Given the description of an element on the screen output the (x, y) to click on. 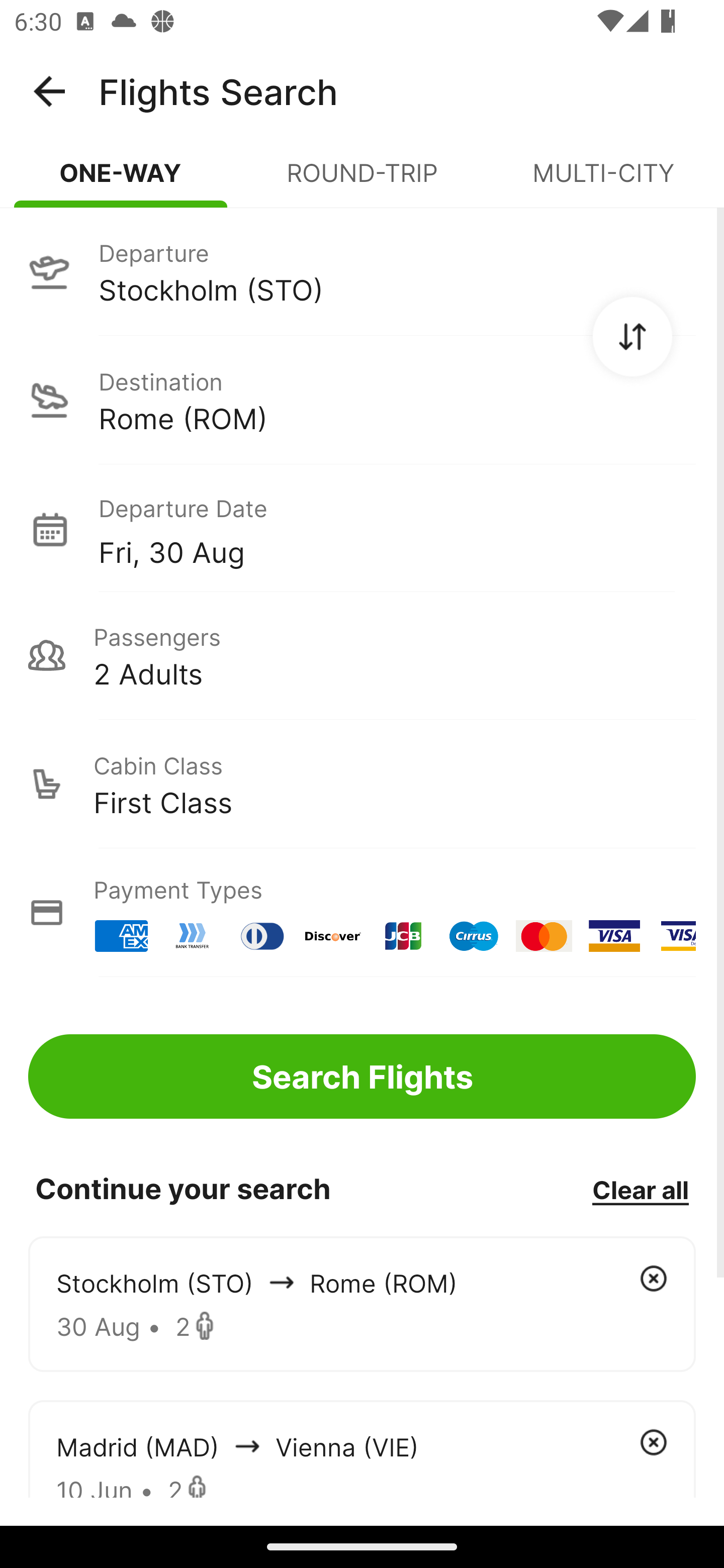
ONE-WAY (120, 180)
ROUND-TRIP (361, 180)
MULTI-CITY (603, 180)
Departure Stockholm (STO) (362, 270)
Destination Rome (ROM) (362, 400)
Departure Date Fri, 30 Aug (396, 528)
Passengers 2 Adults (362, 655)
Cabin Class First Class (362, 783)
Payment Types (362, 912)
Search Flights (361, 1075)
Clear all (640, 1189)
Madrid (MAD)  arrowIcon  Vienna (VIE) 10 Jun •  2  (361, 1448)
